Given the description of an element on the screen output the (x, y) to click on. 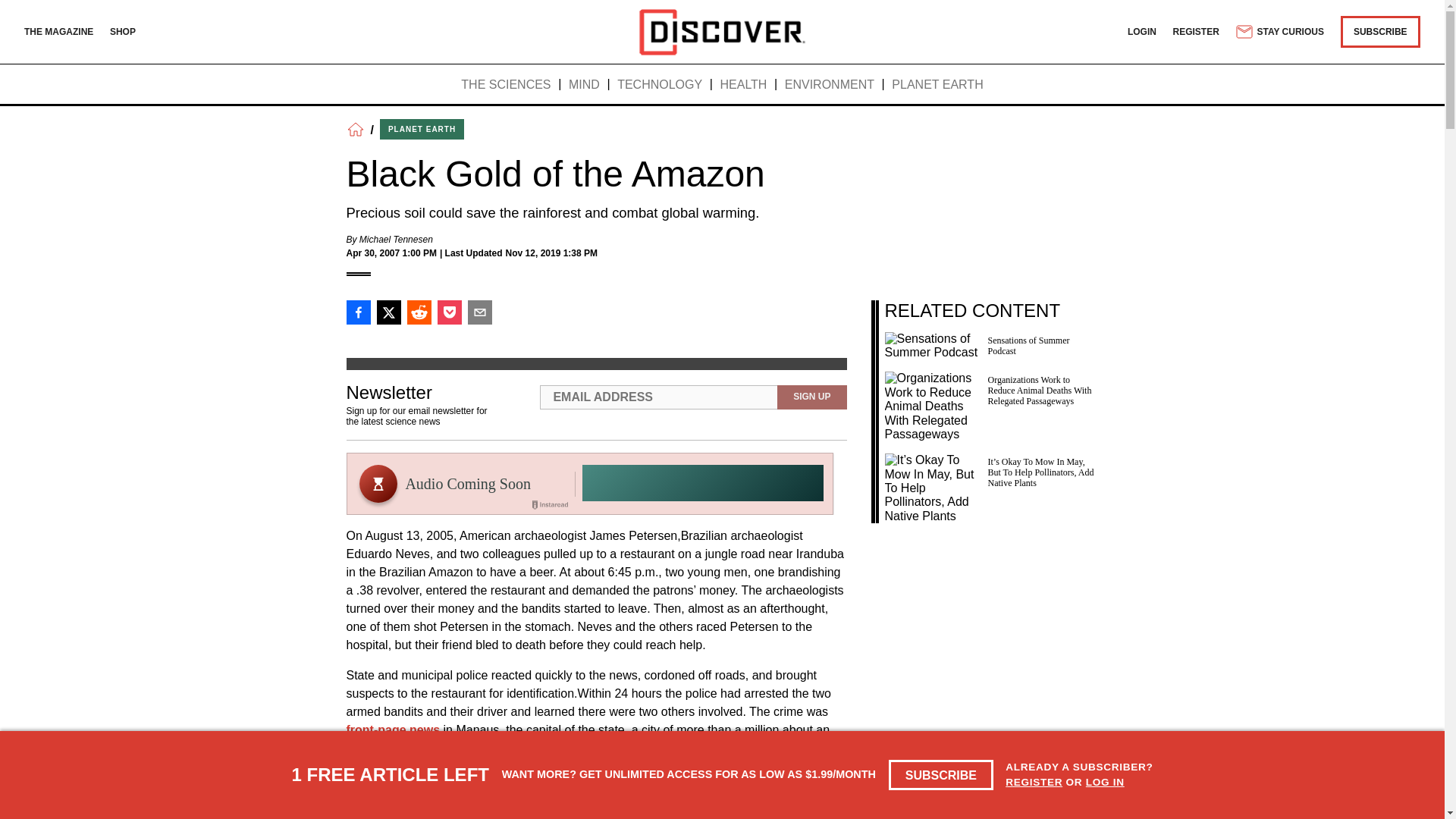
Audio Article (590, 483)
SUBSCRIBE (941, 775)
SHOP (122, 31)
LOG IN (1105, 781)
SUBSCRIBE (1380, 31)
ENVIRONMENT (829, 84)
Michael Tennesen (395, 239)
THE MAGAZINE (58, 31)
MIND (584, 84)
STAY CURIOUS (1278, 31)
